Given the description of an element on the screen output the (x, y) to click on. 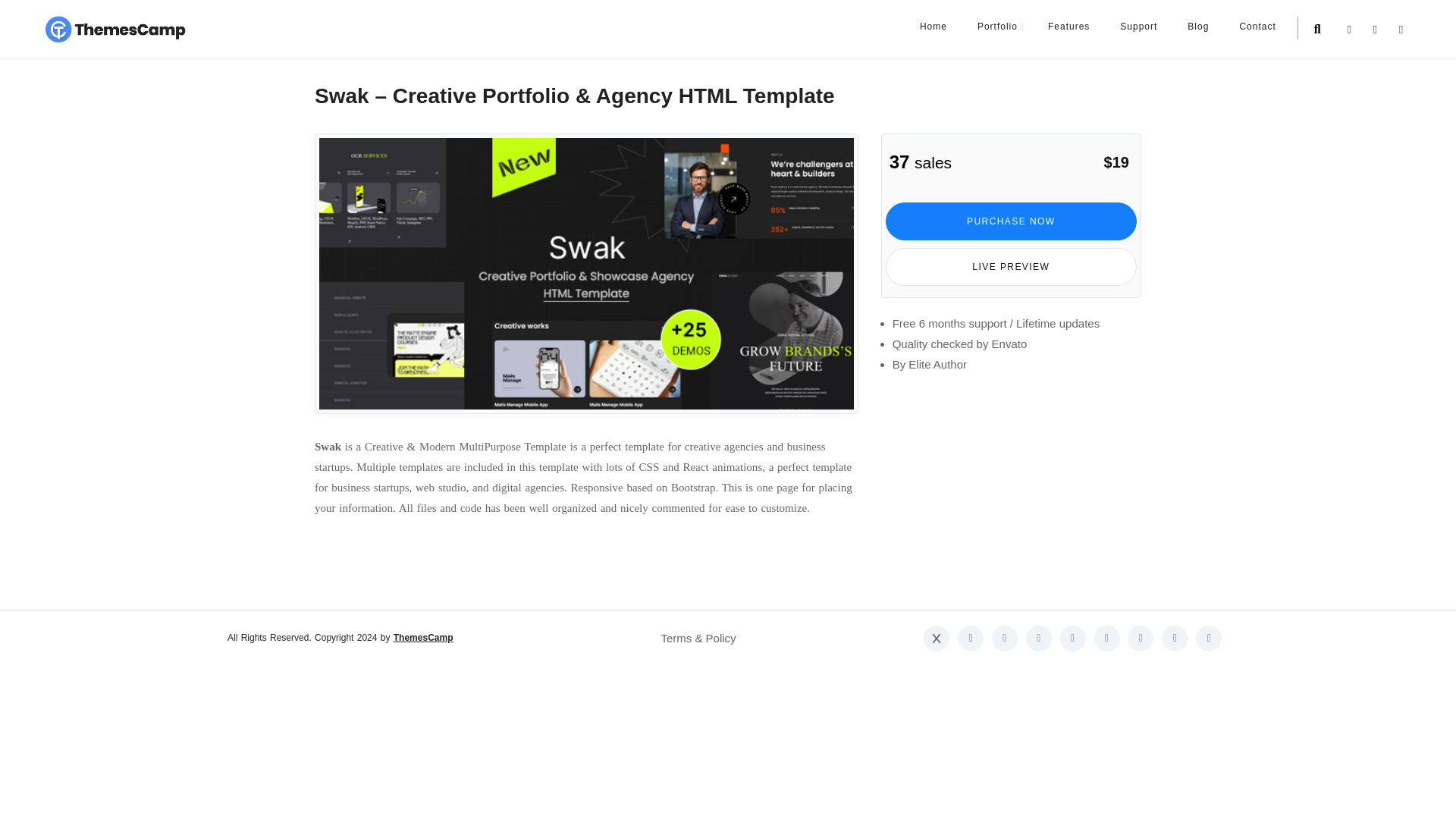
Blog (1198, 27)
Home (933, 27)
Portfolio (997, 27)
LIVE PREVIEW (1011, 266)
PURCHASE NOW (1011, 221)
Contact (1257, 27)
Support (1138, 27)
Features (1068, 27)
